Given the description of an element on the screen output the (x, y) to click on. 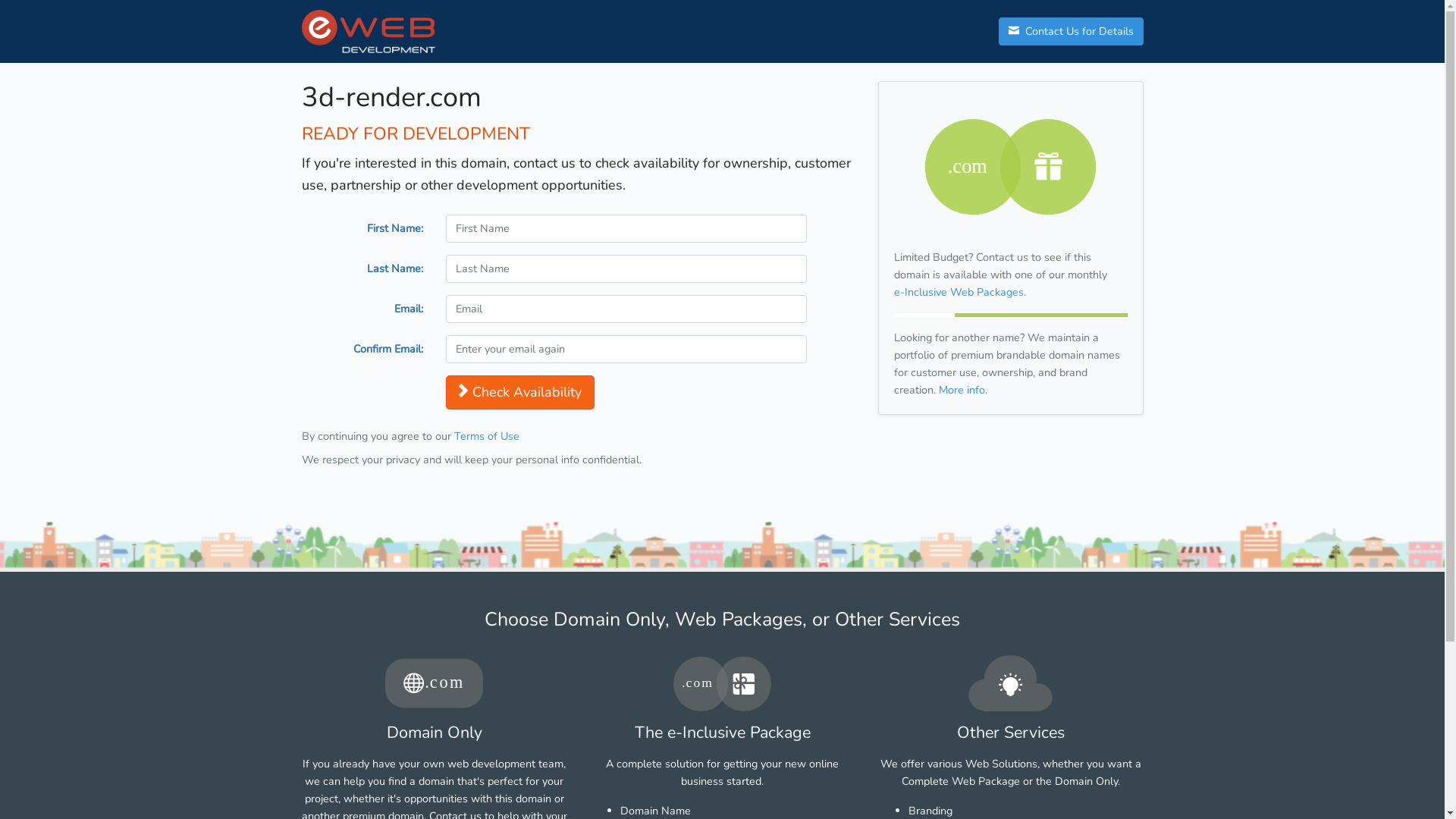
More info. Element type: text (962, 389)
e-Inclusive Web Packages. Element type: text (959, 291)
Terms of Use Element type: text (485, 435)
Check Availability Element type: text (519, 392)
Contact Us for Details Element type: text (1069, 31)
